Given the description of an element on the screen output the (x, y) to click on. 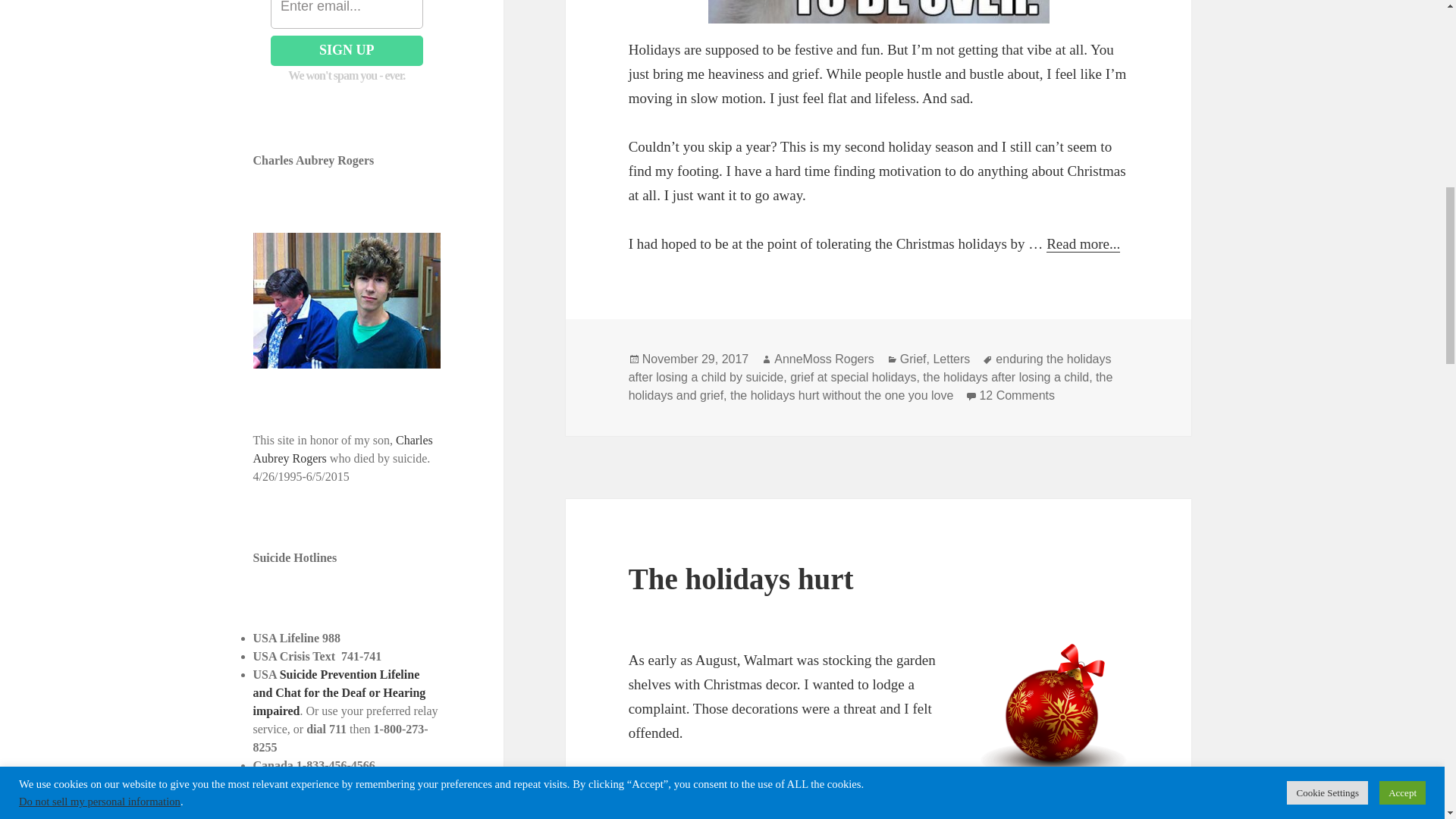
Charles Aubrey Rogers (342, 449)
SIGN UP (346, 51)
Sign Up (346, 51)
International suicide hotlines (328, 816)
